Given the description of an element on the screen output the (x, y) to click on. 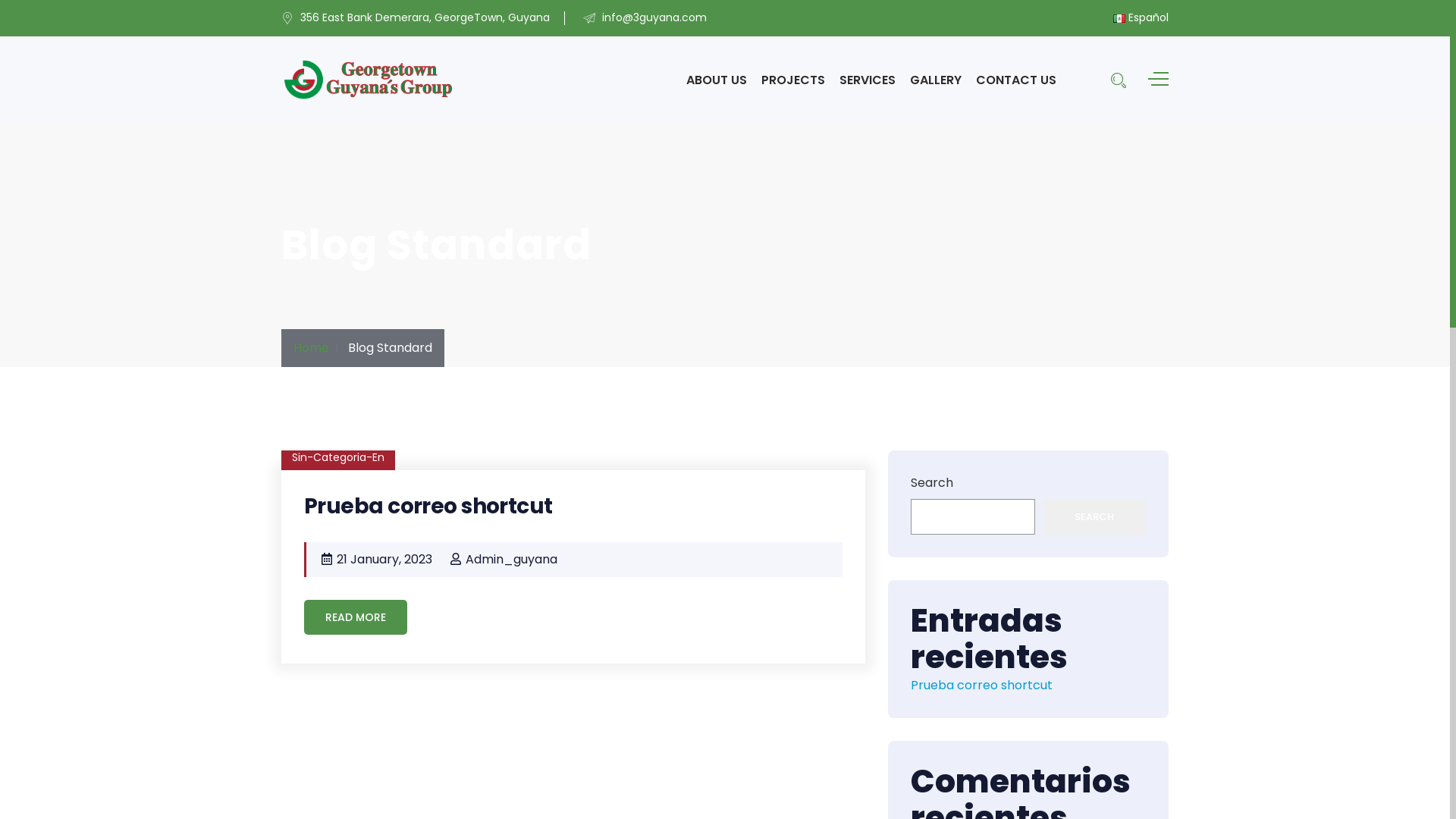
CONTACT US Element type: text (1015, 80)
Prueba correo shortcut Element type: text (981, 684)
SERVICES Element type: text (867, 80)
READ MORE Element type: text (355, 616)
PROJECTS Element type: text (793, 80)
GALLERY Element type: text (935, 80)
Prueba correo shortcut Element type: text (428, 505)
Admin_Guyana Element type: text (511, 558)
ABOUT US Element type: text (716, 80)
SEARCH Element type: text (1093, 516)
Home Element type: text (311, 347)
